Given the description of an element on the screen output the (x, y) to click on. 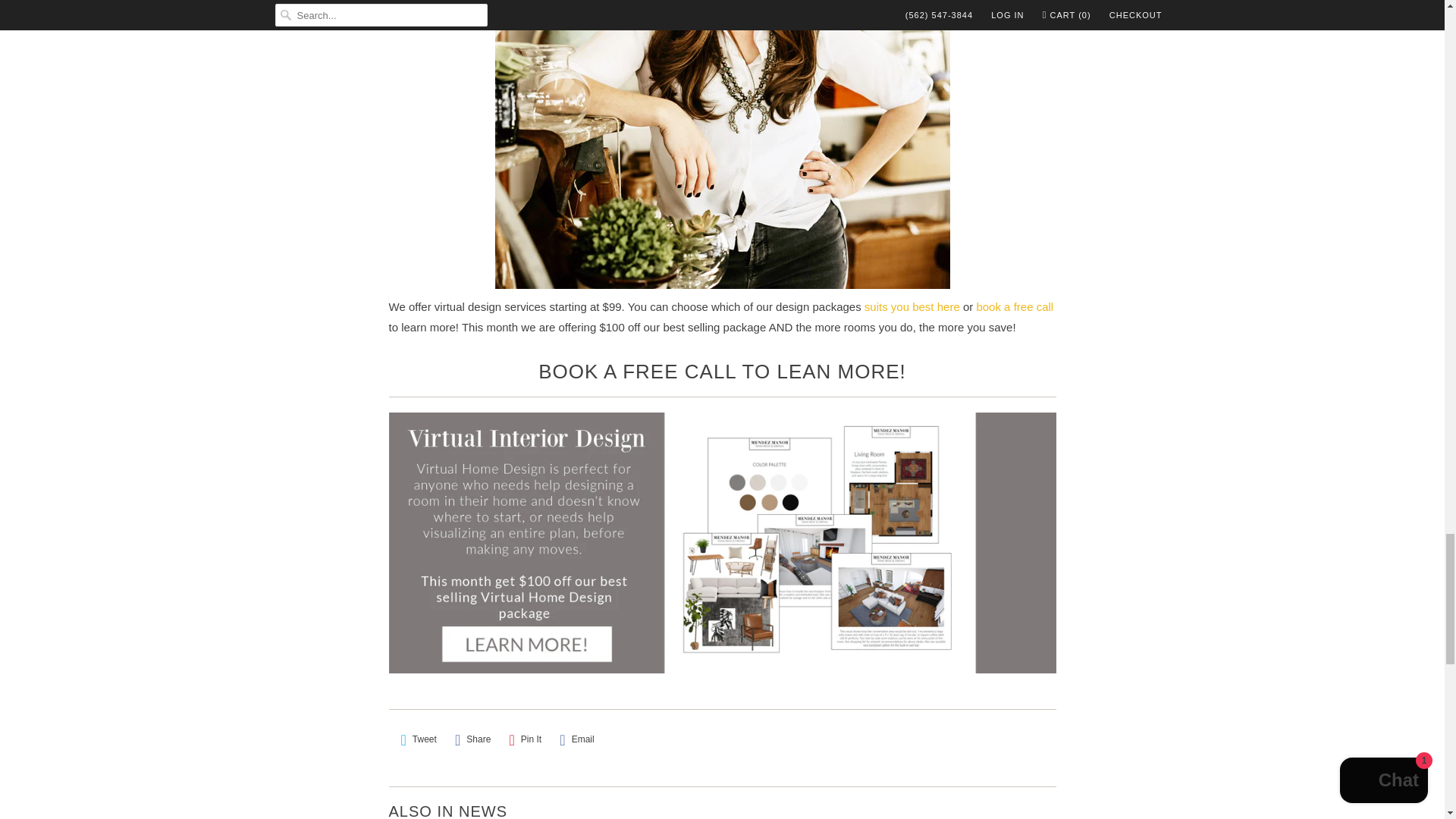
Pin It (526, 739)
suits you best here (911, 306)
Share this on Facebook (472, 739)
virtual interior design service (911, 306)
Share (472, 739)
Email this to a friend (576, 739)
Share this on Pinterest (526, 739)
Tweet (418, 739)
BOOK A FREE CALL TO LEAN MORE! (721, 371)
Share this on Twitter (418, 739)
book a free call (1013, 306)
virtual interior design packages (721, 371)
